Given the description of an element on the screen output the (x, y) to click on. 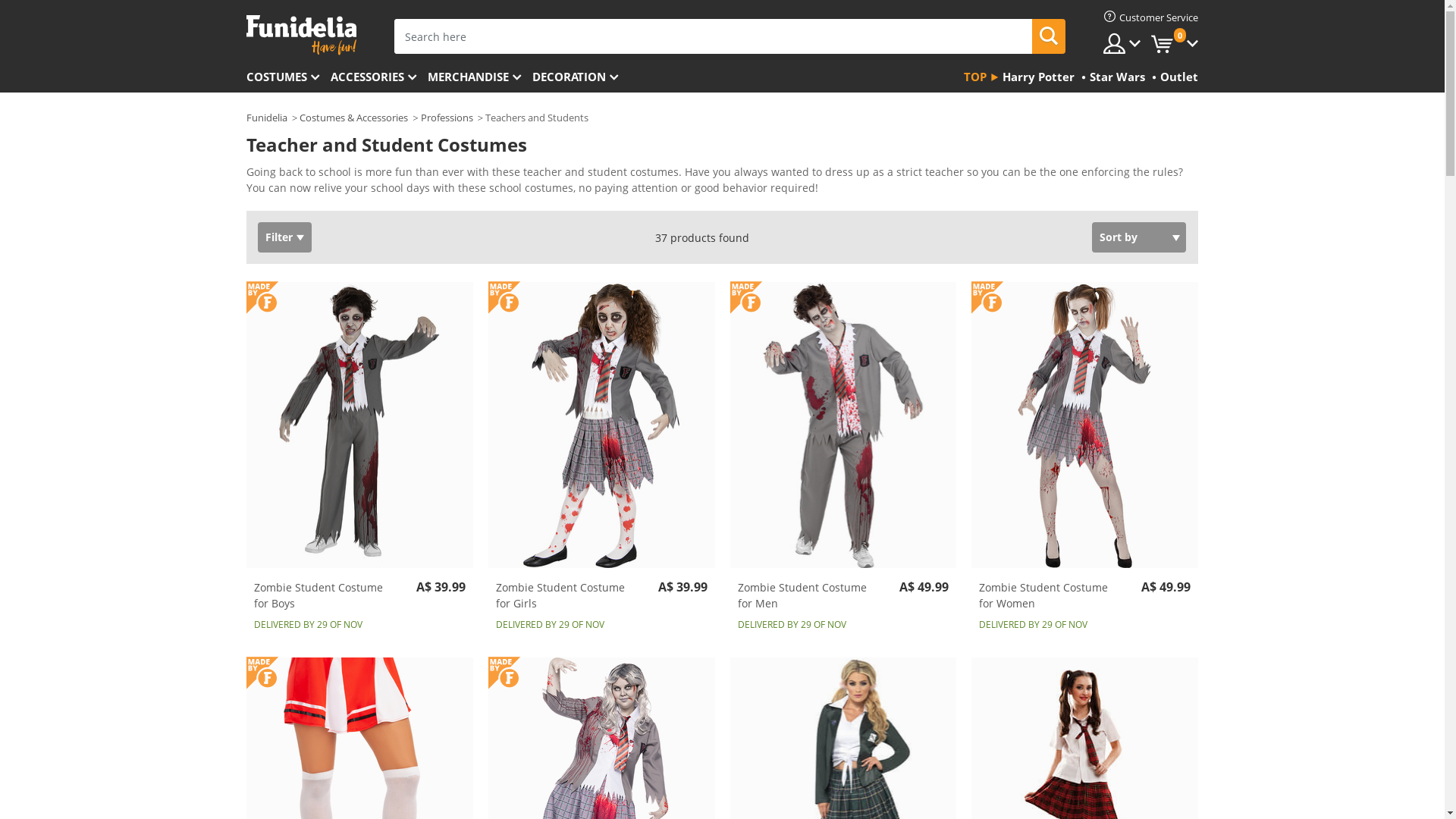
ACCESSORIES Element type: text (378, 77)
Harry Potter Element type: text (1036, 77)
DECORATION Element type: text (580, 77)
Zombie Student Costume for Men Element type: hover (842, 425)
Zombie Student Costume for Boys Element type: text (323, 595)
Outlet Element type: text (1177, 77)
Funidelia Element type: text (266, 117)
My account Element type: hover (1121, 43)
Zombie Student Costume for Women Element type: hover (1084, 425)
Filter Element type: text (284, 236)
Zombie Student Costume for Boys Element type: hover (359, 425)
Zombie Student Costume for Men Element type: text (806, 595)
TOP Element type: text (980, 77)
0 Element type: text (1174, 43)
Professions Element type: text (446, 117)
Zombie Student Costume for Women Element type: text (1048, 595)
Costumes & Accessories Element type: text (353, 117)
Customer Service Element type: text (1151, 17)
Zombie Student Costume for Girls Element type: text (565, 595)
COSTUMES Element type: text (288, 77)
Star Wars Element type: text (1115, 77)
Zombie Student Costume for Girls Element type: hover (601, 425)
MERCHANDISE Element type: text (479, 77)
